Given the description of an element on the screen output the (x, y) to click on. 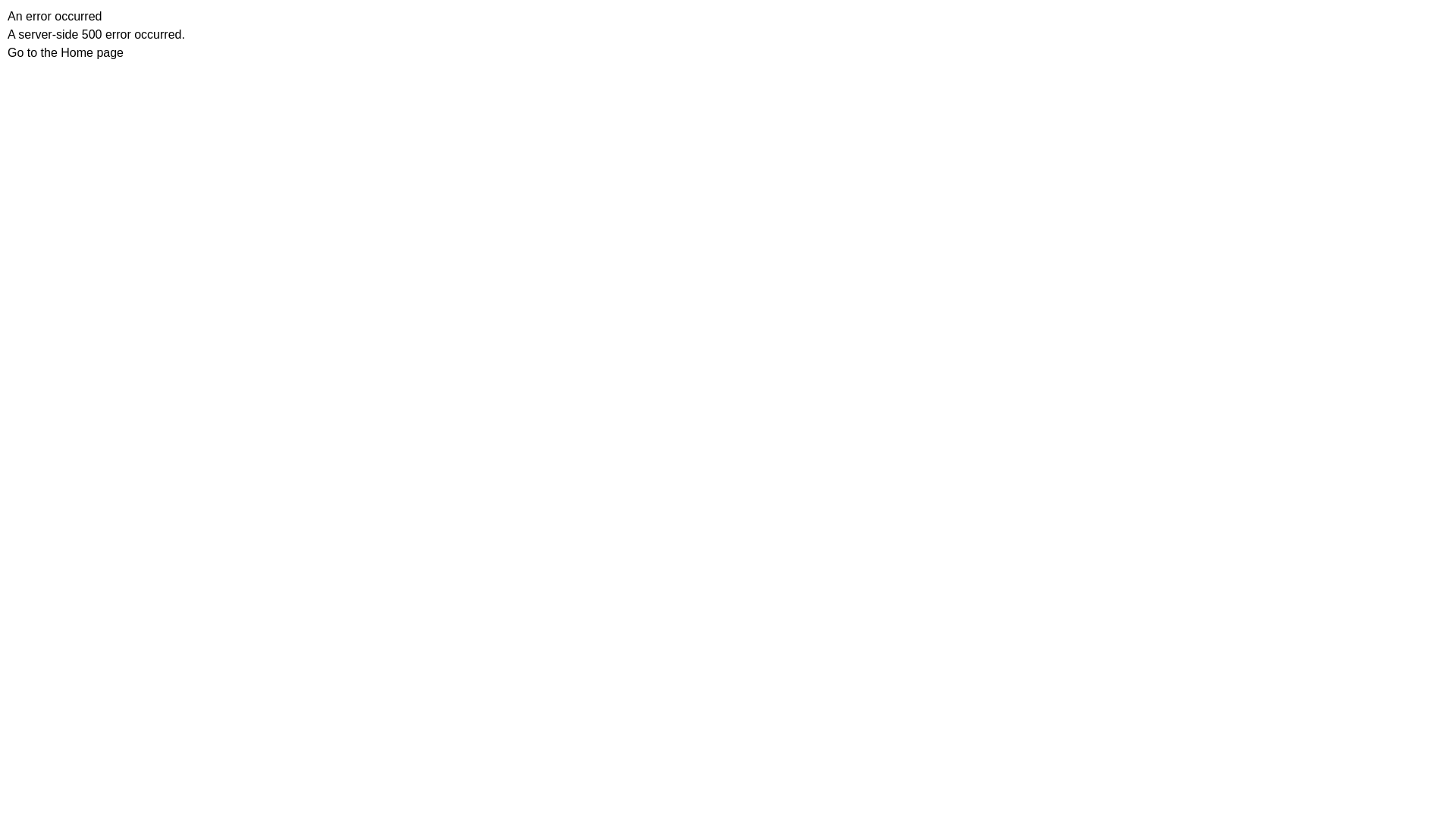
Go to the Home page Element type: text (65, 52)
